Given the description of an element on the screen output the (x, y) to click on. 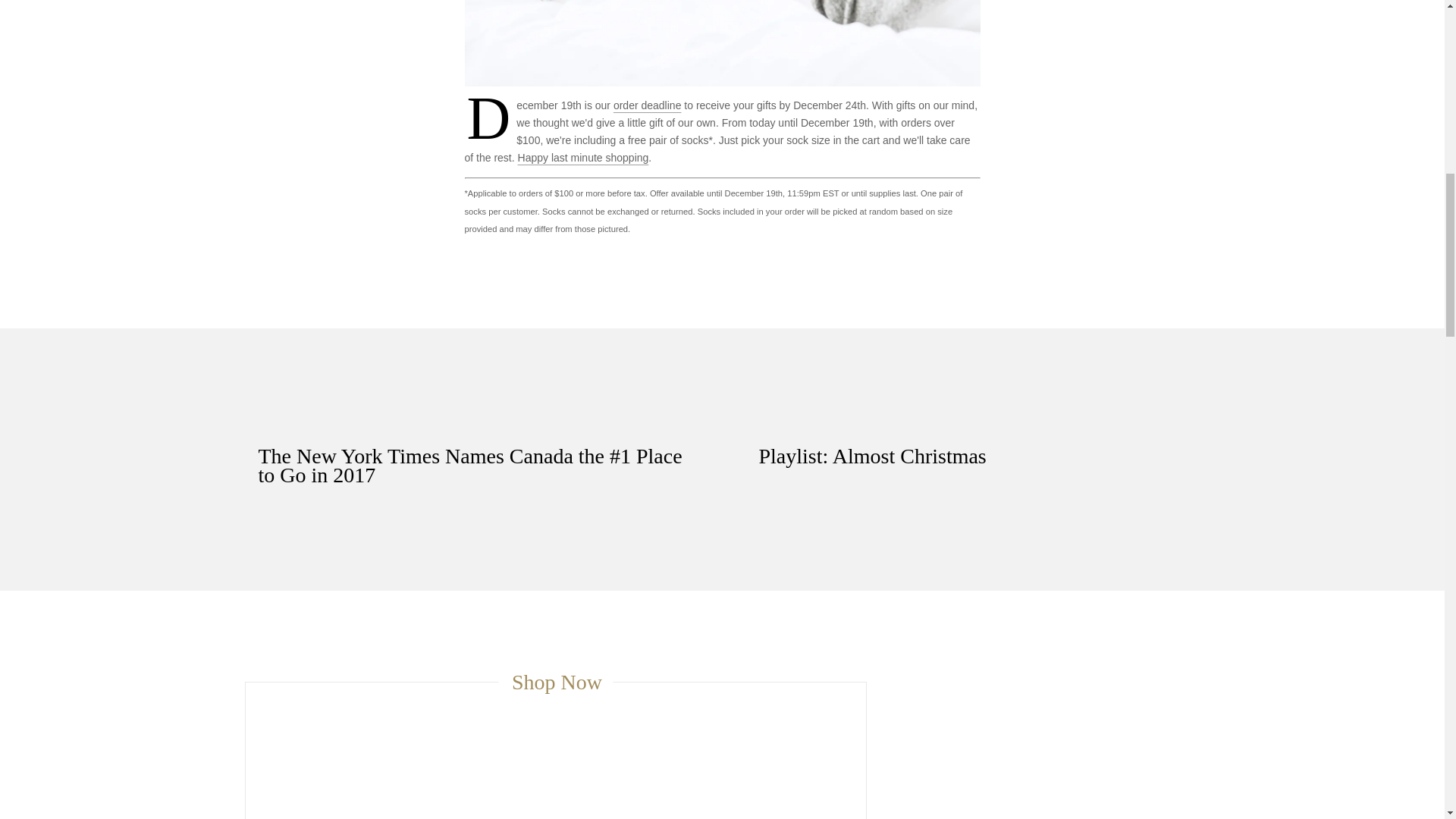
Province of Canada - Made in Canada Shop All (583, 157)
